Given the description of an element on the screen output the (x, y) to click on. 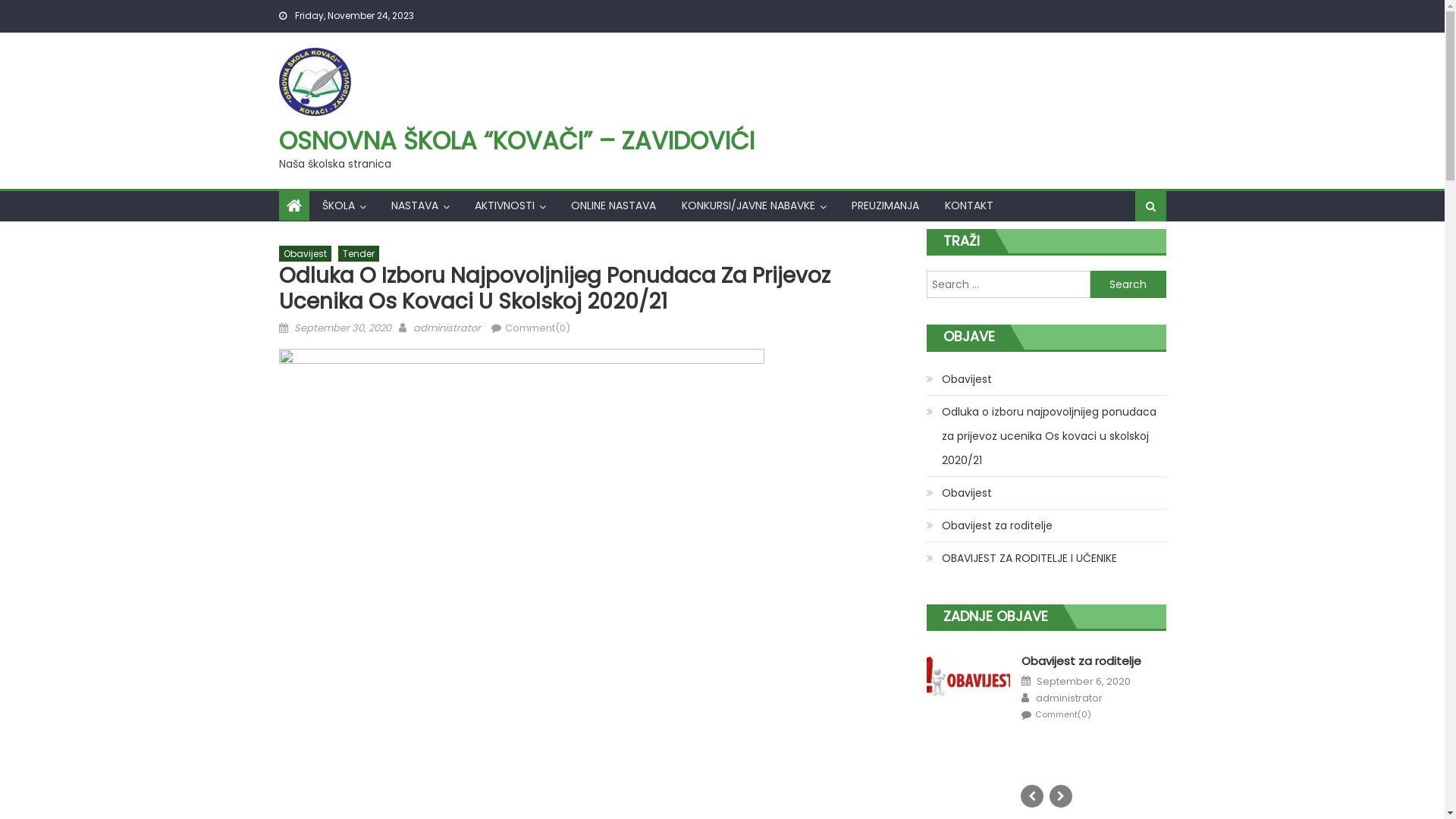
Tender Element type: text (358, 253)
Next Element type: text (1060, 795)
Obavijest za roditelje Element type: hover (968, 687)
KONTAKT Element type: text (968, 205)
Comment(0) Element type: text (1063, 714)
Obavijest Element type: text (958, 492)
Obavijest Element type: text (958, 379)
Obavijest Element type: text (305, 253)
AKTIVNOSTI Element type: text (503, 205)
administrator Element type: text (446, 327)
PREUZIMANJA Element type: text (885, 205)
Search Element type: text (1128, 284)
administrator Element type: text (1068, 698)
KONKURSI/JAVNE NABAVKE Element type: text (748, 205)
Obavijest za roditelje Element type: text (1081, 660)
September 30, 2020 Element type: text (342, 327)
Obavijest za roditelje Element type: text (989, 525)
Prev Element type: text (1031, 795)
Search Element type: text (1128, 254)
Comment(0) Element type: text (537, 327)
ONLINE NASTAVA Element type: text (613, 205)
NASTAVA Element type: text (413, 205)
September 6, 2020 Element type: text (1083, 681)
